Given the description of an element on the screen output the (x, y) to click on. 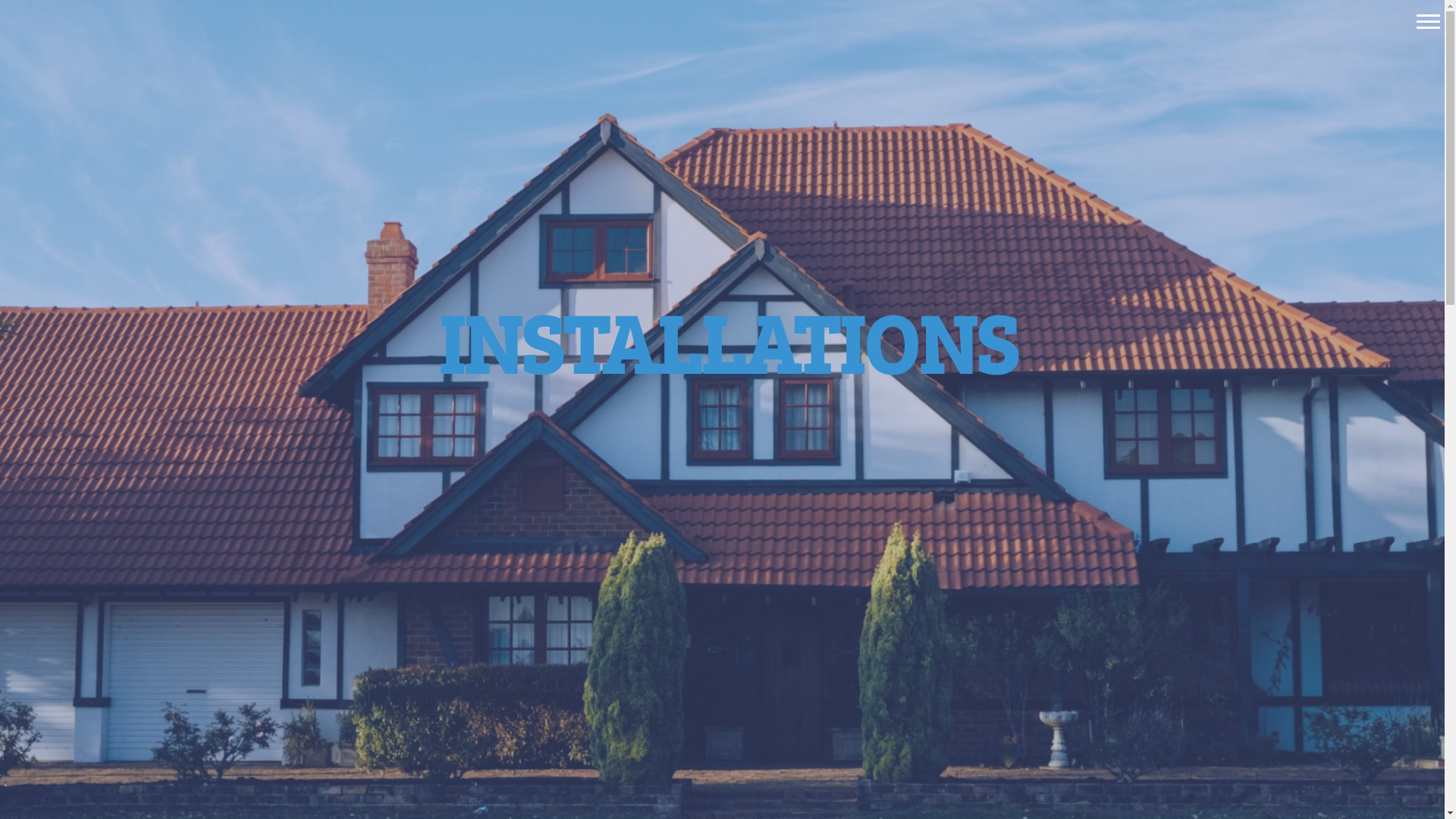
BEATTIE INSULATION & BEATTIE SPRAY FOAM Element type: text (172, 21)
Search Element type: text (35, 14)
